Given the description of an element on the screen output the (x, y) to click on. 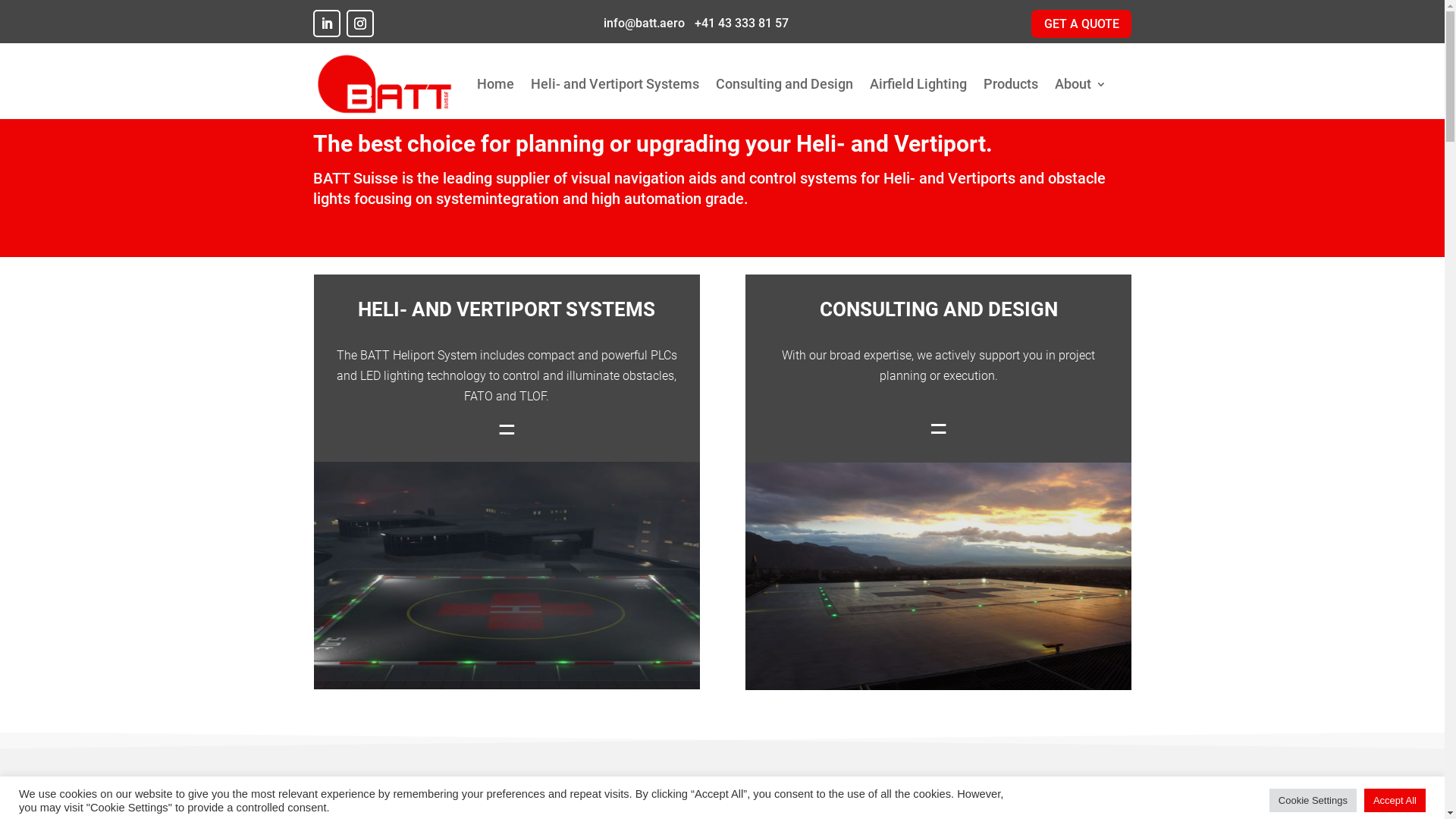
Products Element type: text (1009, 84)
Consulting and Design Element type: text (784, 84)
Follow on Instagram Element type: hover (359, 23)
Home Element type: text (494, 84)
 info@batt.aero Element type: text (642, 22)
Heli- and Vertiport Systems Element type: text (614, 84)
About Element type: text (1079, 84)
 +41 43 333 81 57 Element type: text (739, 22)
Follow on LinkedIn Element type: hover (325, 23)
Accept All Element type: text (1394, 792)
GET A QUOTE Element type: text (1081, 23)
1_batt_suisse_heliportlighting400px Element type: hover (506, 575)
Airfield Lighting Element type: text (917, 84)
Cookie Settings Element type: text (1312, 792)
card1image1_web Element type: hover (938, 576)
